Given the description of an element on the screen output the (x, y) to click on. 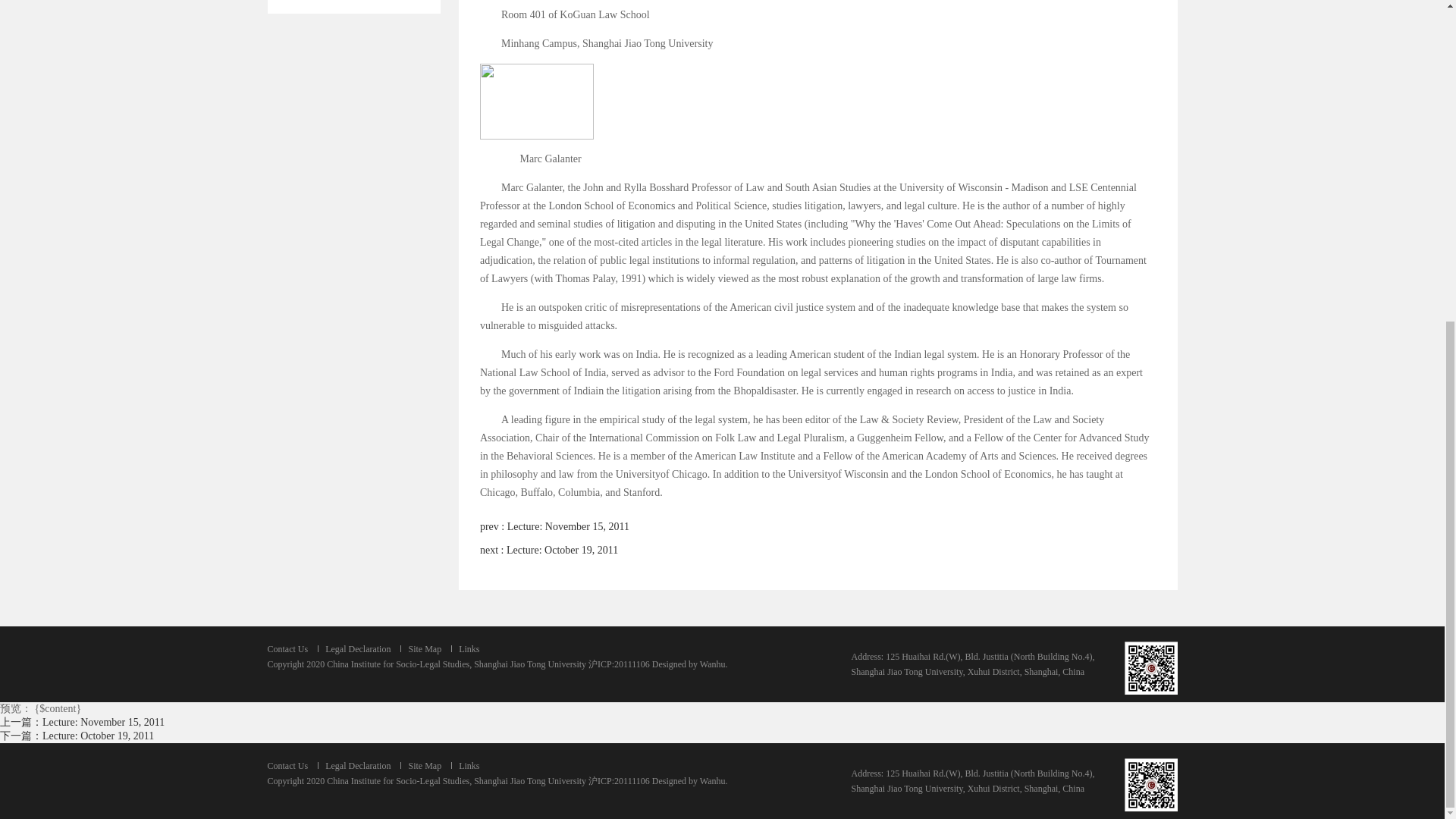
Wanhu (712, 664)
Contact Us (286, 765)
Contact Us (286, 648)
prev : Lecture: November 15, 2011 (554, 526)
Site Map (424, 648)
Links (468, 765)
Site Map (424, 765)
next : Lecture: October 19, 2011 (548, 550)
Legal Declaration (357, 765)
Links (468, 648)
